Given the description of an element on the screen output the (x, y) to click on. 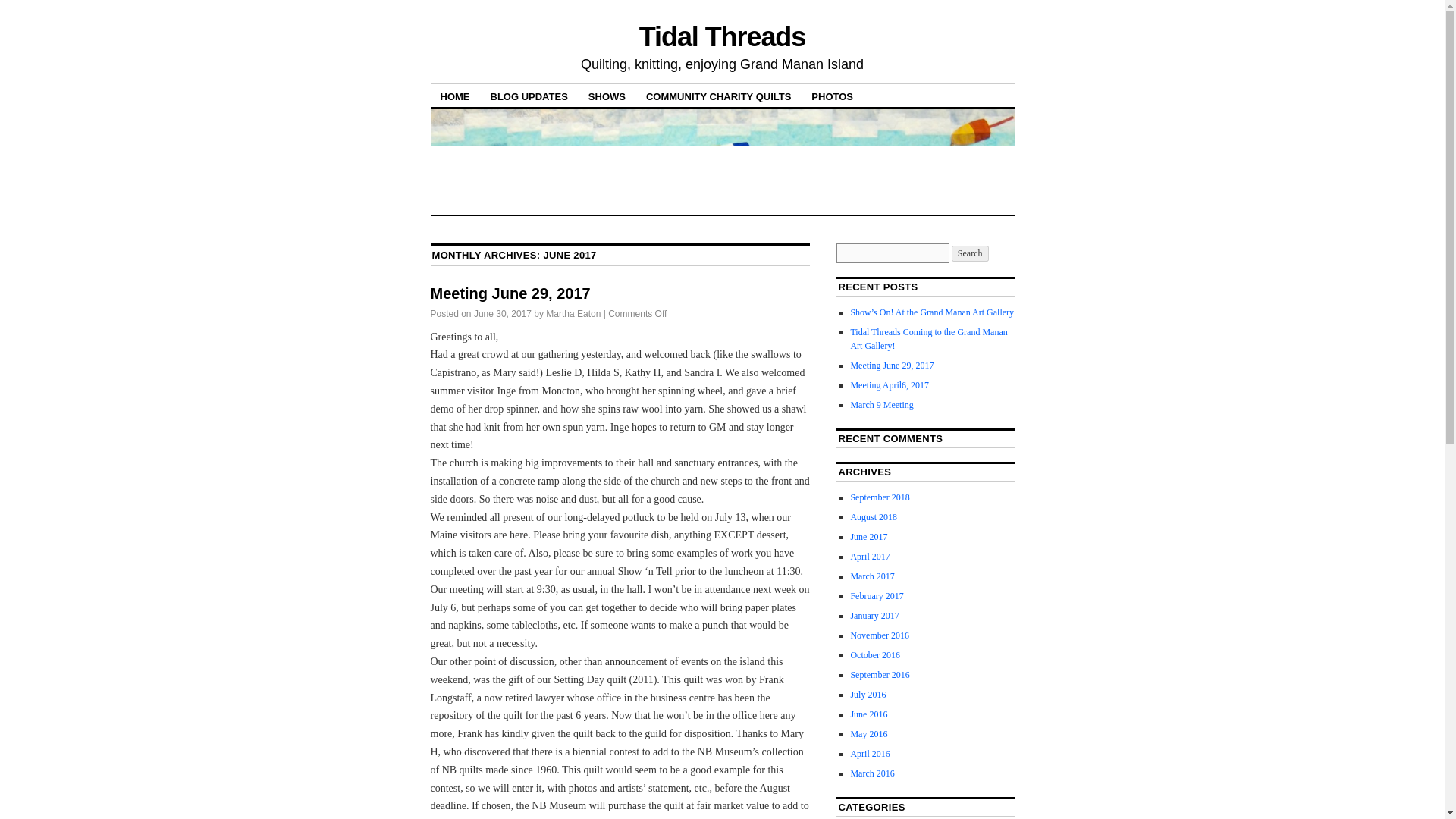
Meeting June 29, 2017 (891, 365)
February 2017 (876, 595)
September 2016 (879, 674)
April 2017 (869, 556)
August 2018 (873, 516)
Meeting June 29, 2017 (510, 293)
COMMUNITY CHARITY QUILTS (718, 96)
June 2016 (868, 714)
Tidal Threads (722, 36)
Tidal Threads (722, 36)
May 2016 (868, 733)
April 2016 (869, 753)
March 2017 (871, 575)
SHOWS (606, 96)
November 2016 (879, 634)
